Given the description of an element on the screen output the (x, y) to click on. 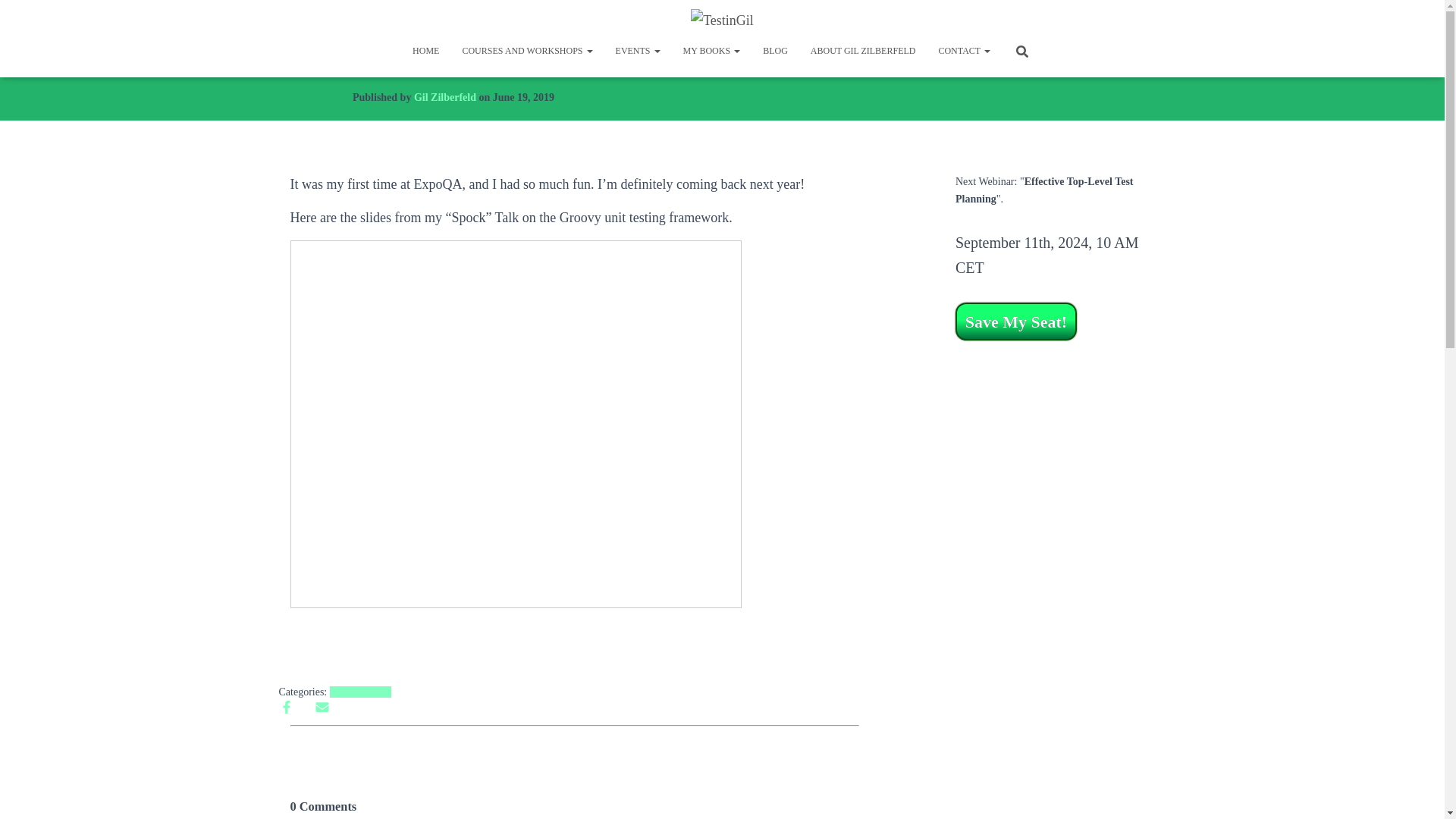
MY BOOKS (711, 50)
Home (425, 50)
CONTACT (963, 50)
COURSES AND WORKSHOPS (526, 50)
ABOUT GIL ZILBERFELD (863, 50)
TestinGil (722, 19)
HOME (425, 50)
BLOG (775, 50)
Courses and Workshops (526, 50)
EVENTS (637, 50)
